Given the description of an element on the screen output the (x, y) to click on. 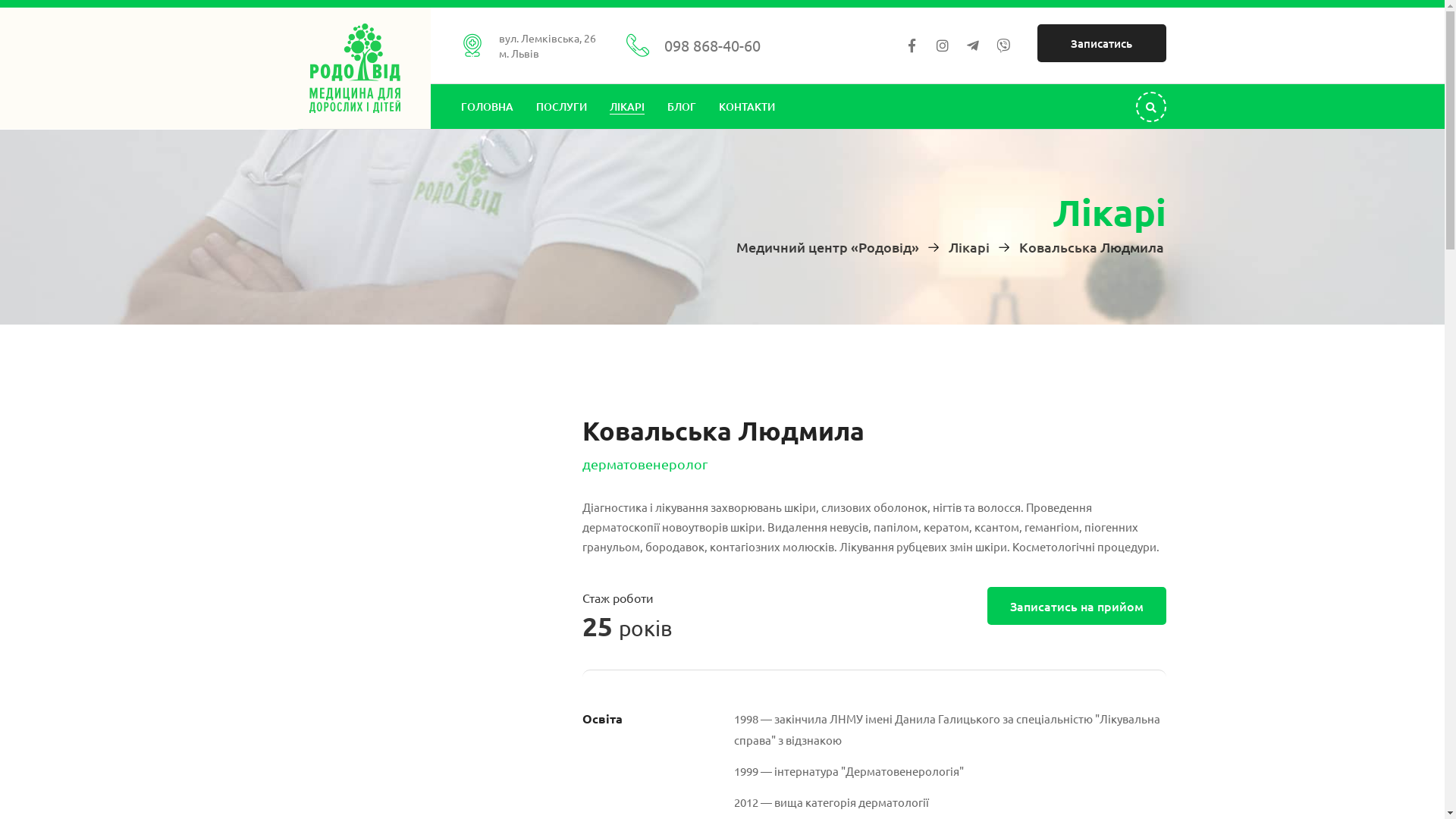
098 868-40-60 Element type: text (712, 45)
